Given the description of an element on the screen output the (x, y) to click on. 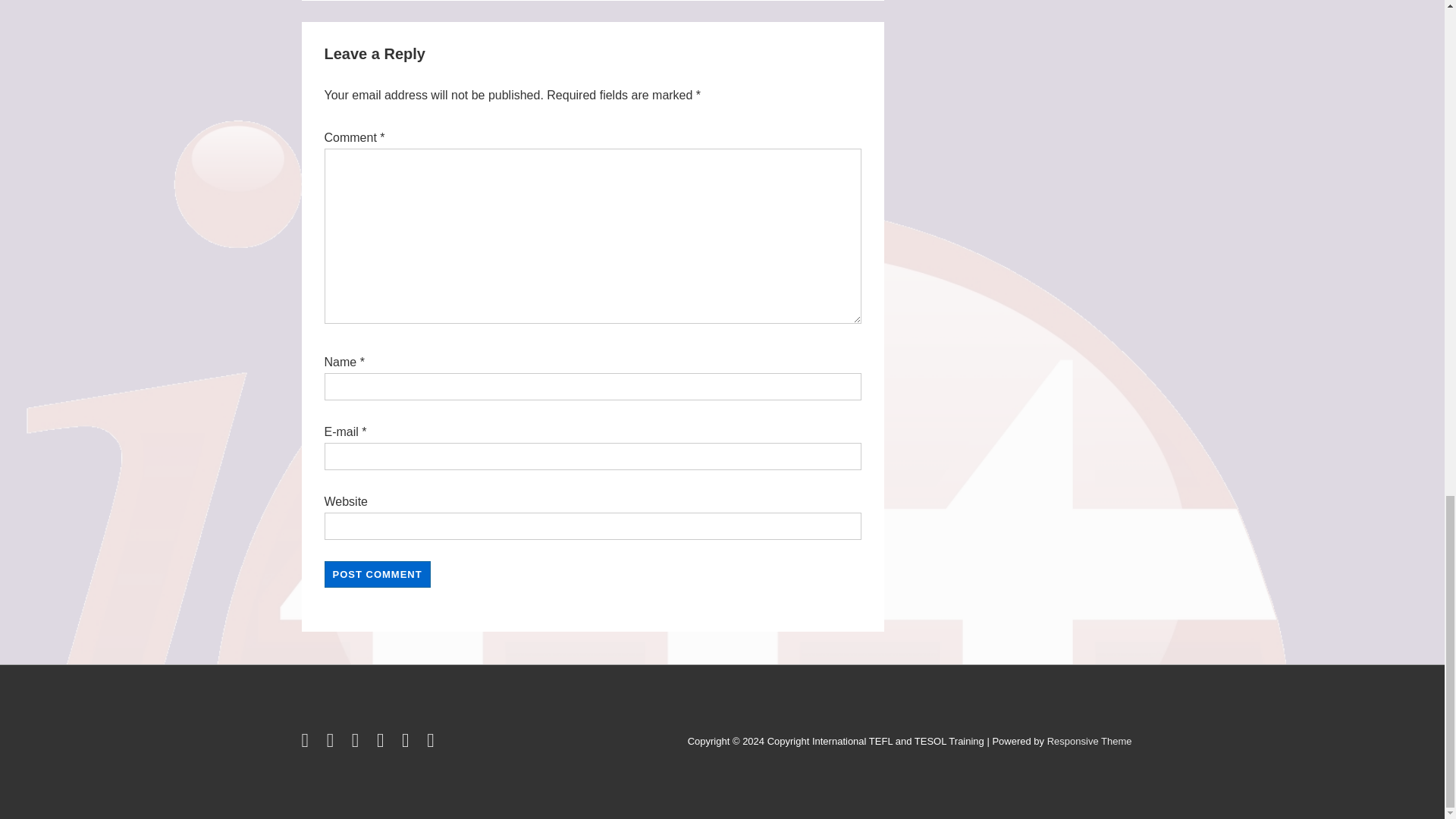
facebook (333, 743)
Post Comment (377, 574)
pinterest (407, 743)
twitter (308, 743)
vimeo (432, 743)
linkedin (358, 743)
Post Comment (377, 574)
Responsive Theme (1089, 740)
youtube (383, 743)
